Given the description of an element on the screen output the (x, y) to click on. 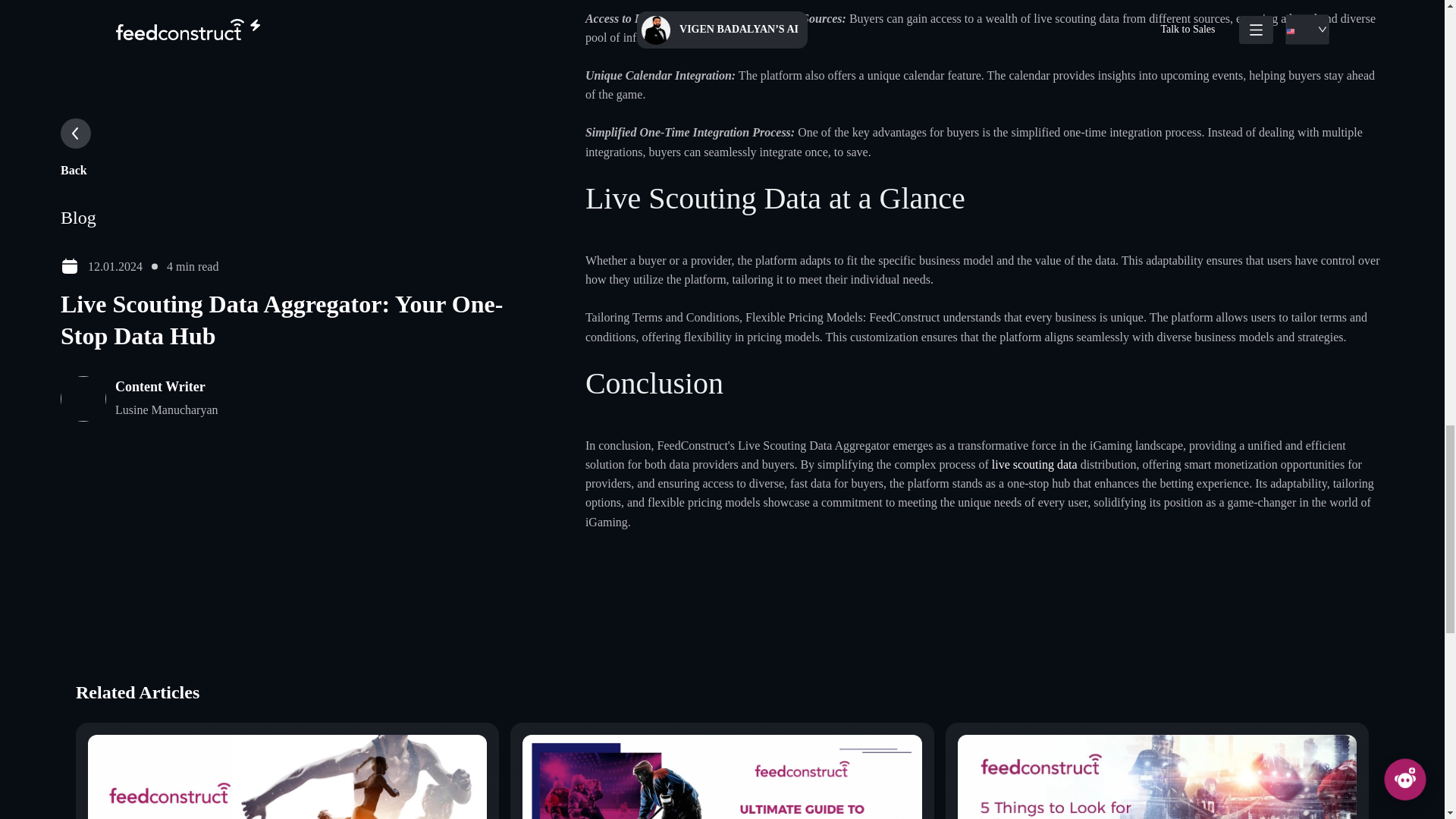
live scouting data (1034, 463)
